Given the description of an element on the screen output the (x, y) to click on. 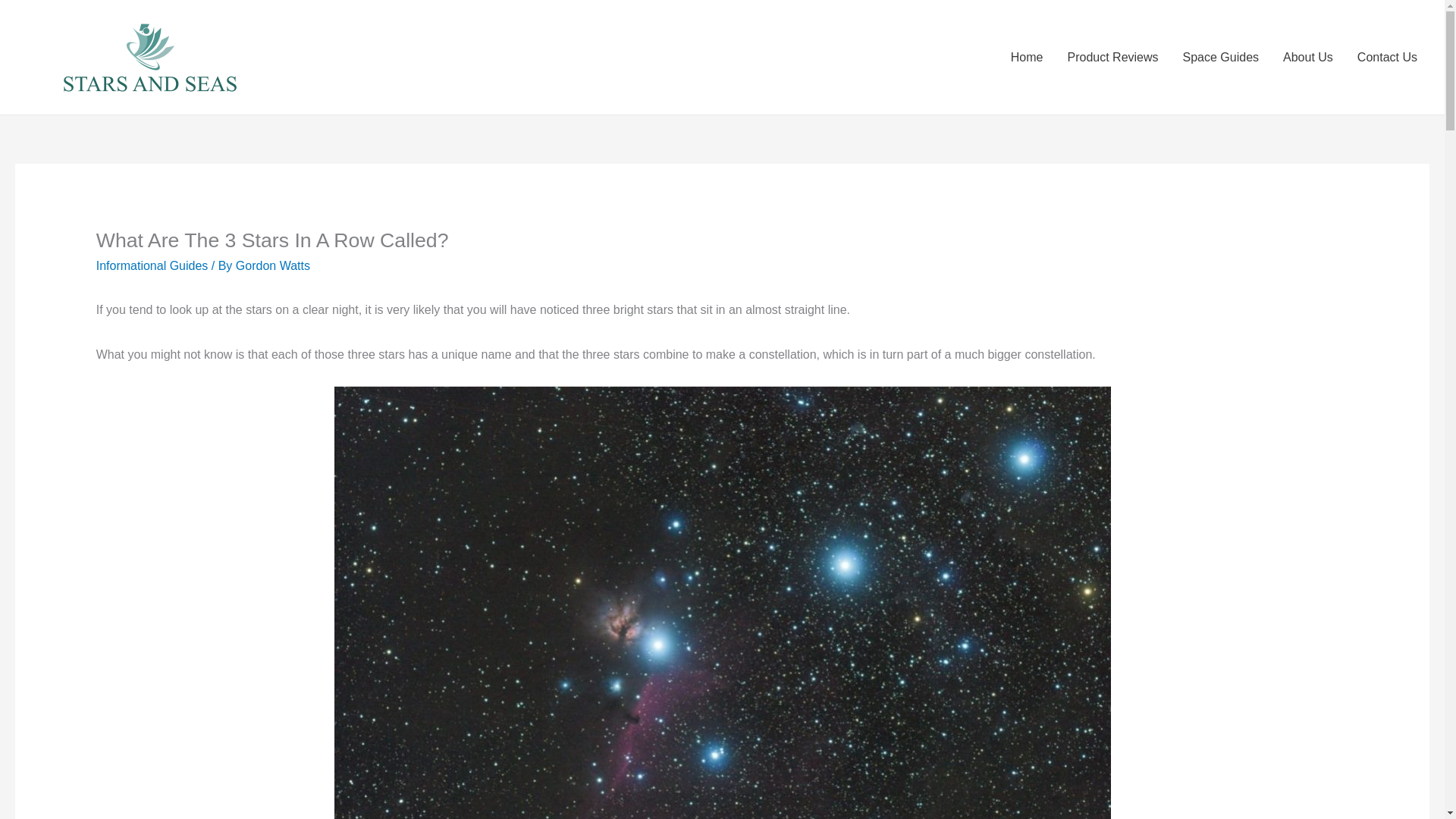
Product Reviews (1112, 57)
Informational Guides (152, 265)
View all posts by Gordon Watts (272, 265)
Gordon Watts (272, 265)
